Given the description of an element on the screen output the (x, y) to click on. 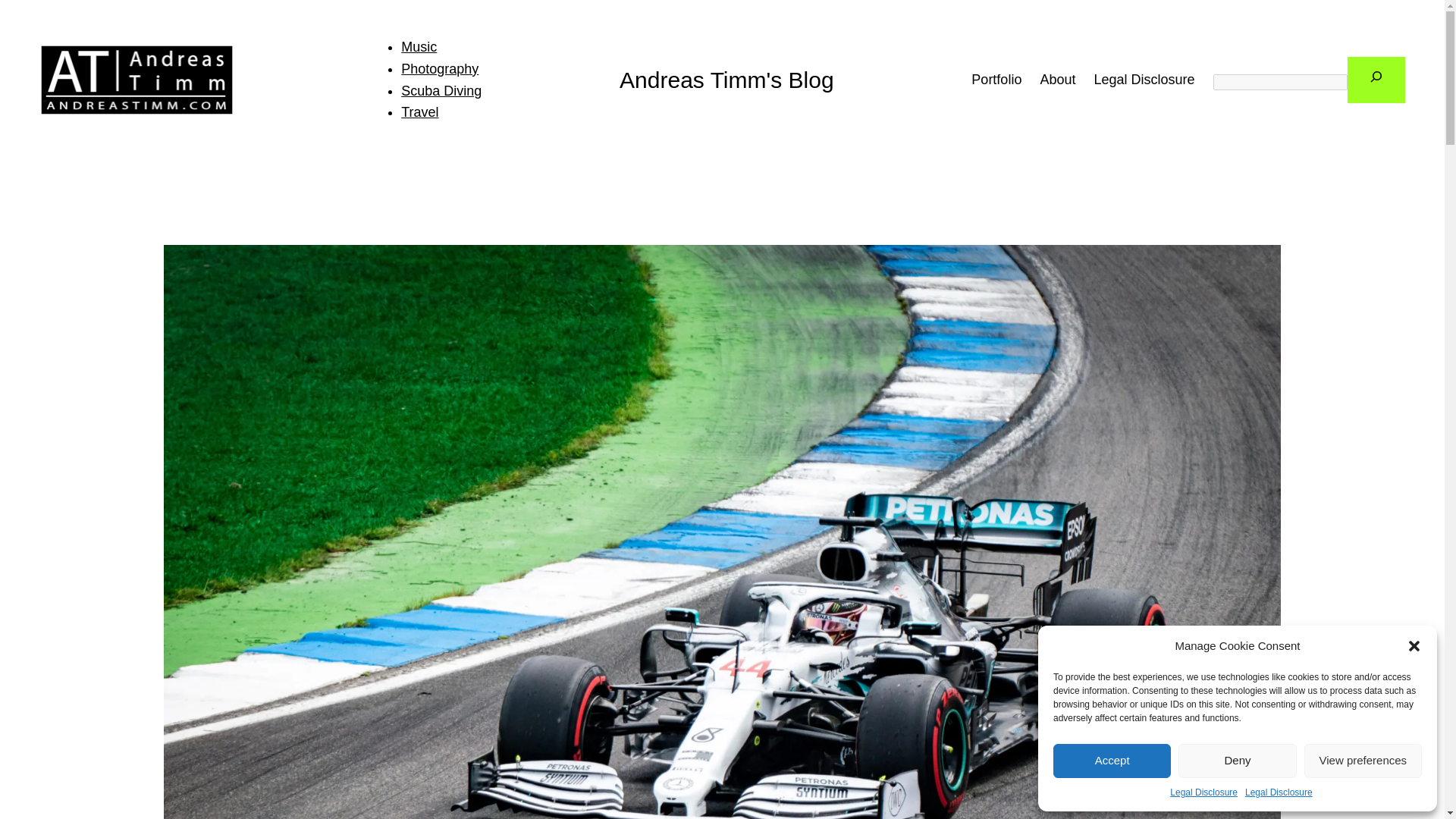
Legal Disclosure (1143, 79)
Scuba Diving (441, 90)
Music (418, 46)
About (1057, 79)
Photography (440, 68)
Portfolio (996, 79)
Deny (1236, 760)
Legal Disclosure (1203, 792)
Accept (1111, 760)
View preferences (1363, 760)
